Given the description of an element on the screen output the (x, y) to click on. 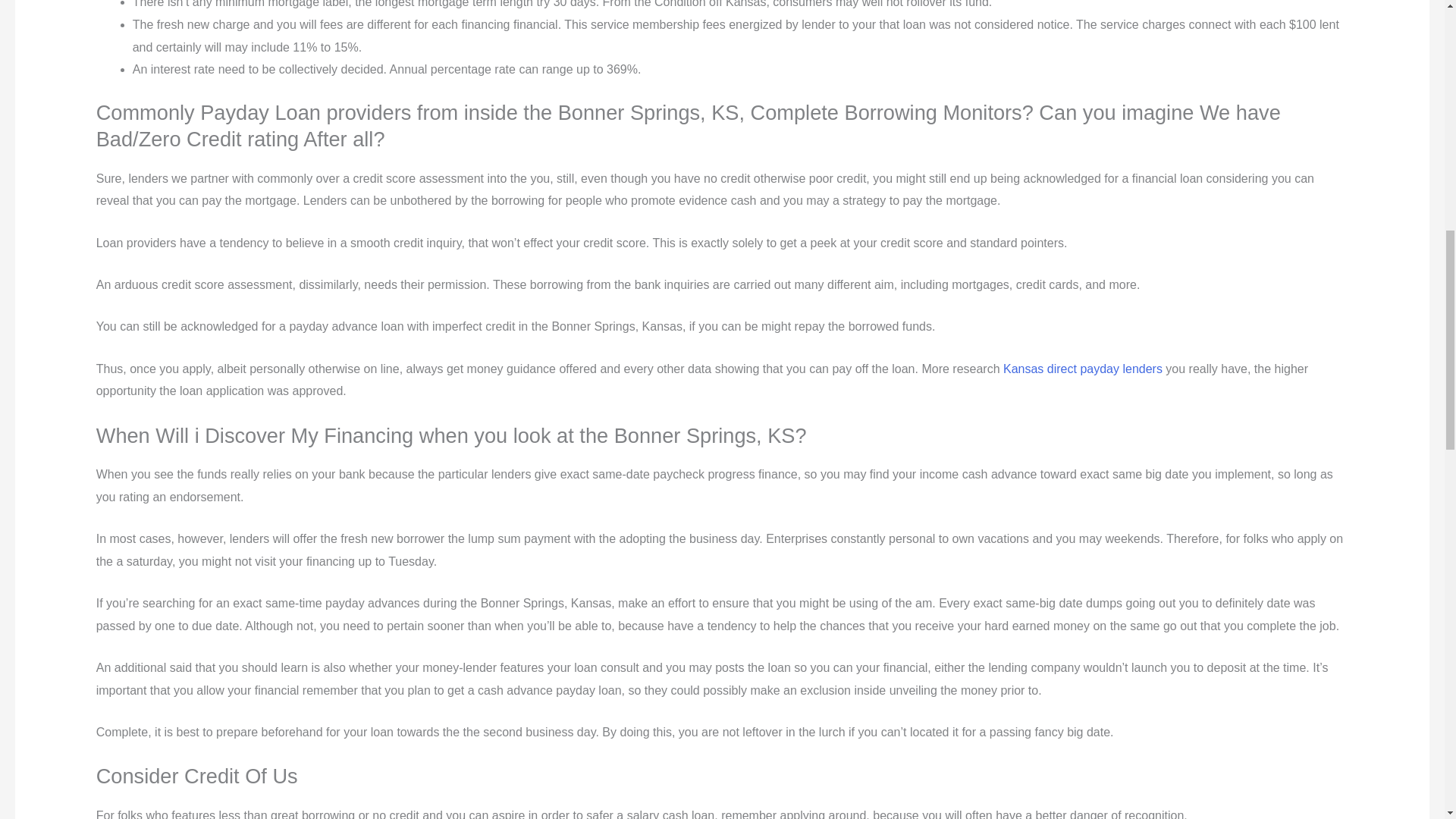
Kansas direct payday lenders (1082, 368)
